Given the description of an element on the screen output the (x, y) to click on. 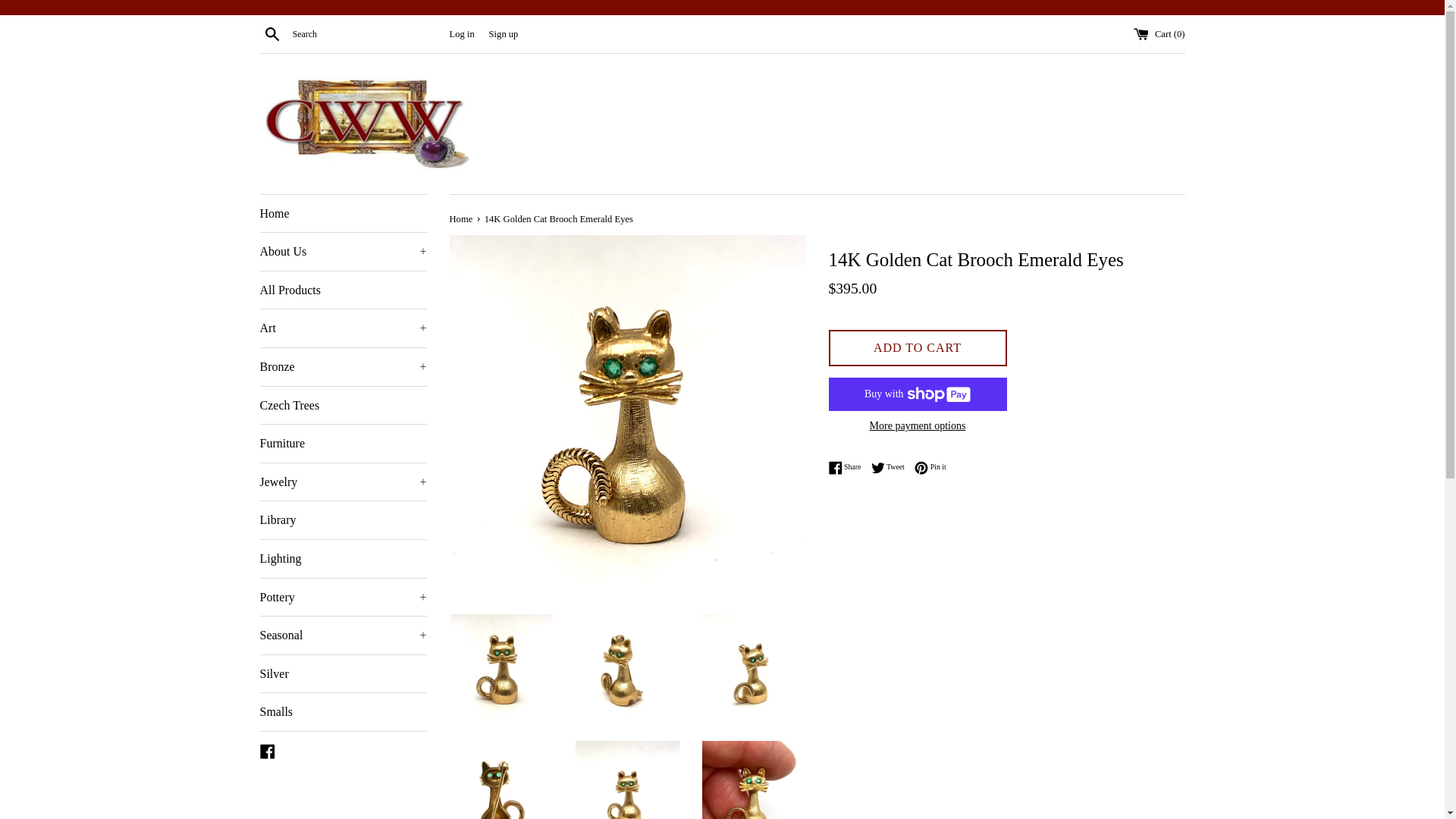
Search (271, 33)
Cydney's Antiques on Facebook (267, 749)
Library (342, 519)
Furniture (342, 443)
Share on Facebook (847, 468)
All Products (342, 290)
Home (342, 213)
Czech Trees (342, 405)
Back to the frontpage (461, 218)
Tweet on Twitter (891, 468)
